Given the description of an element on the screen output the (x, y) to click on. 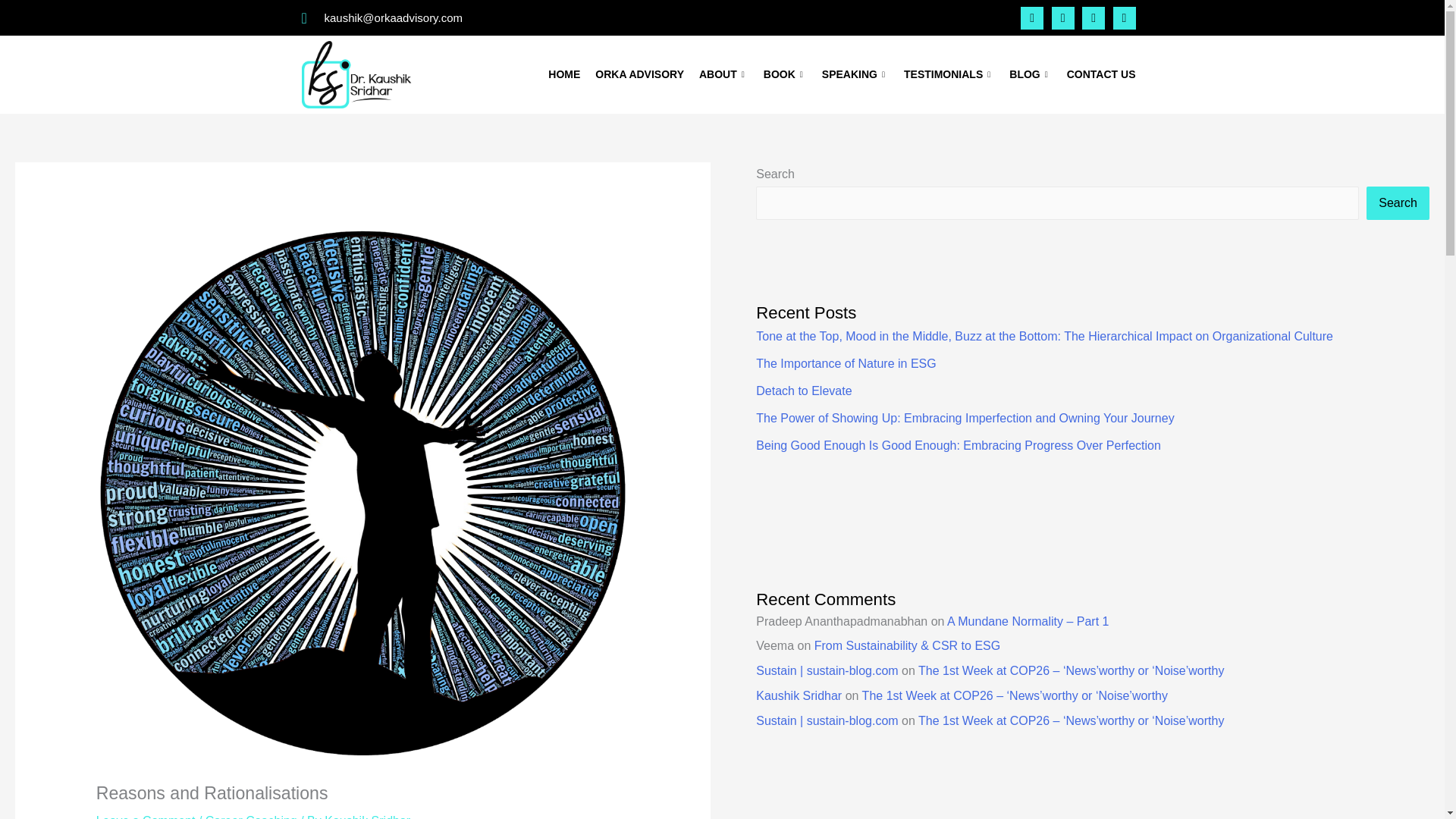
ORKA ADVISORY (639, 75)
BOOK (784, 75)
BLOG (1029, 75)
ABOUT (723, 75)
View all posts by Kaushik Sridhar (367, 816)
SPEAKING (854, 75)
HOME (564, 75)
TESTIMONIALS (948, 75)
